Given the description of an element on the screen output the (x, y) to click on. 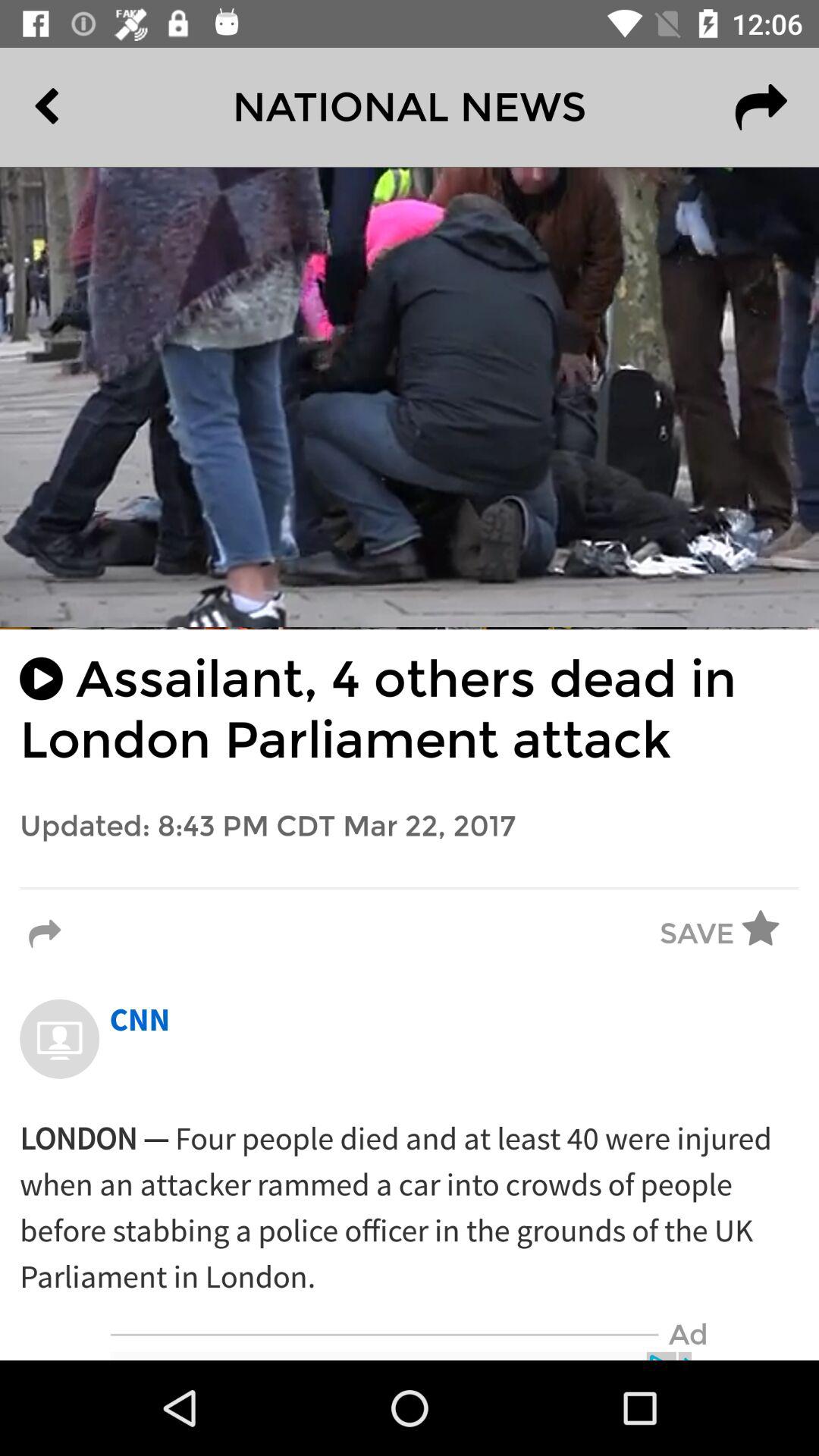
turn on the updated 8 43 (409, 826)
